Given the description of an element on the screen output the (x, y) to click on. 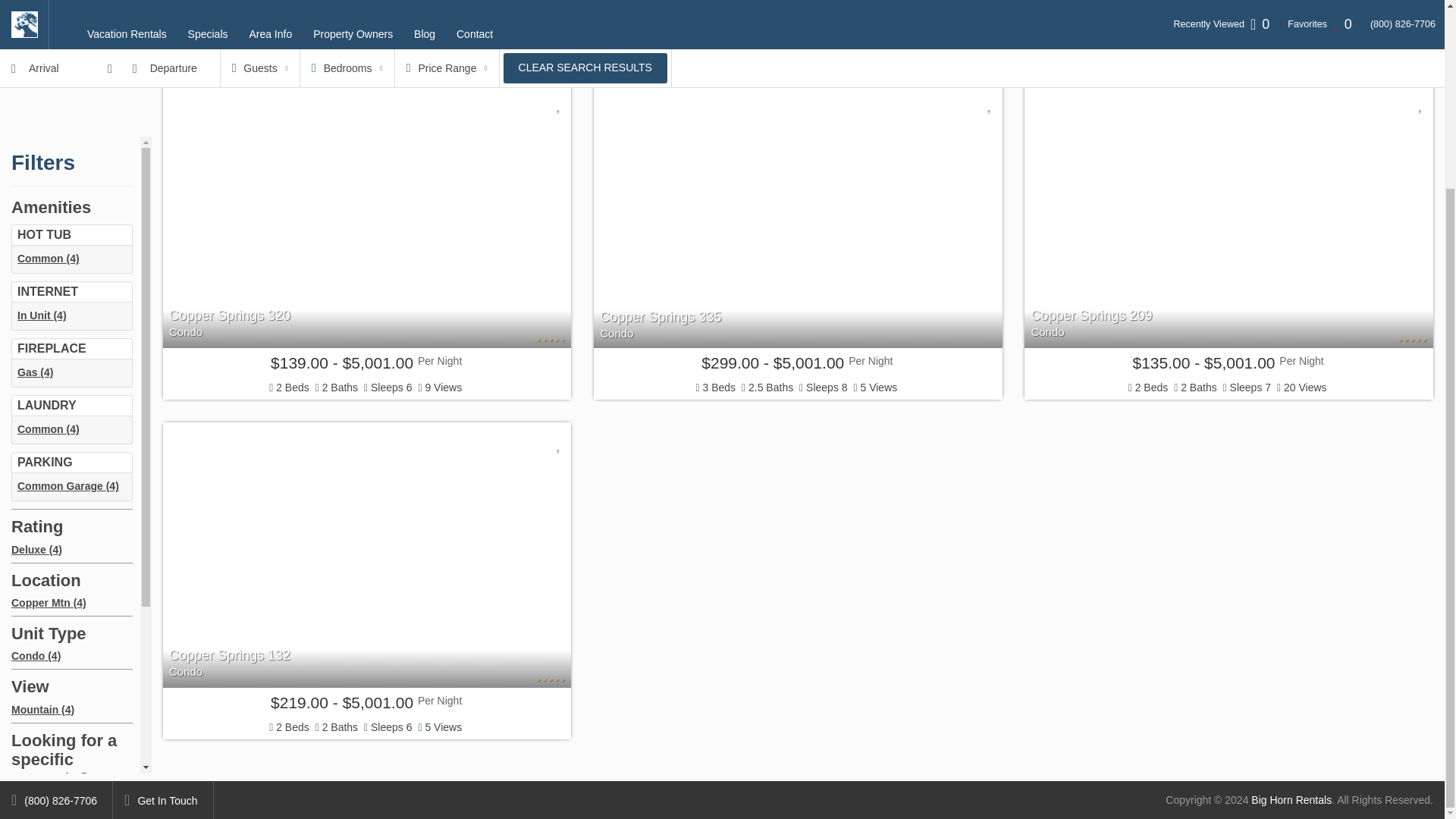
Nothing selected (71, 692)
Nothing selected (71, 634)
